Given the description of an element on the screen output the (x, y) to click on. 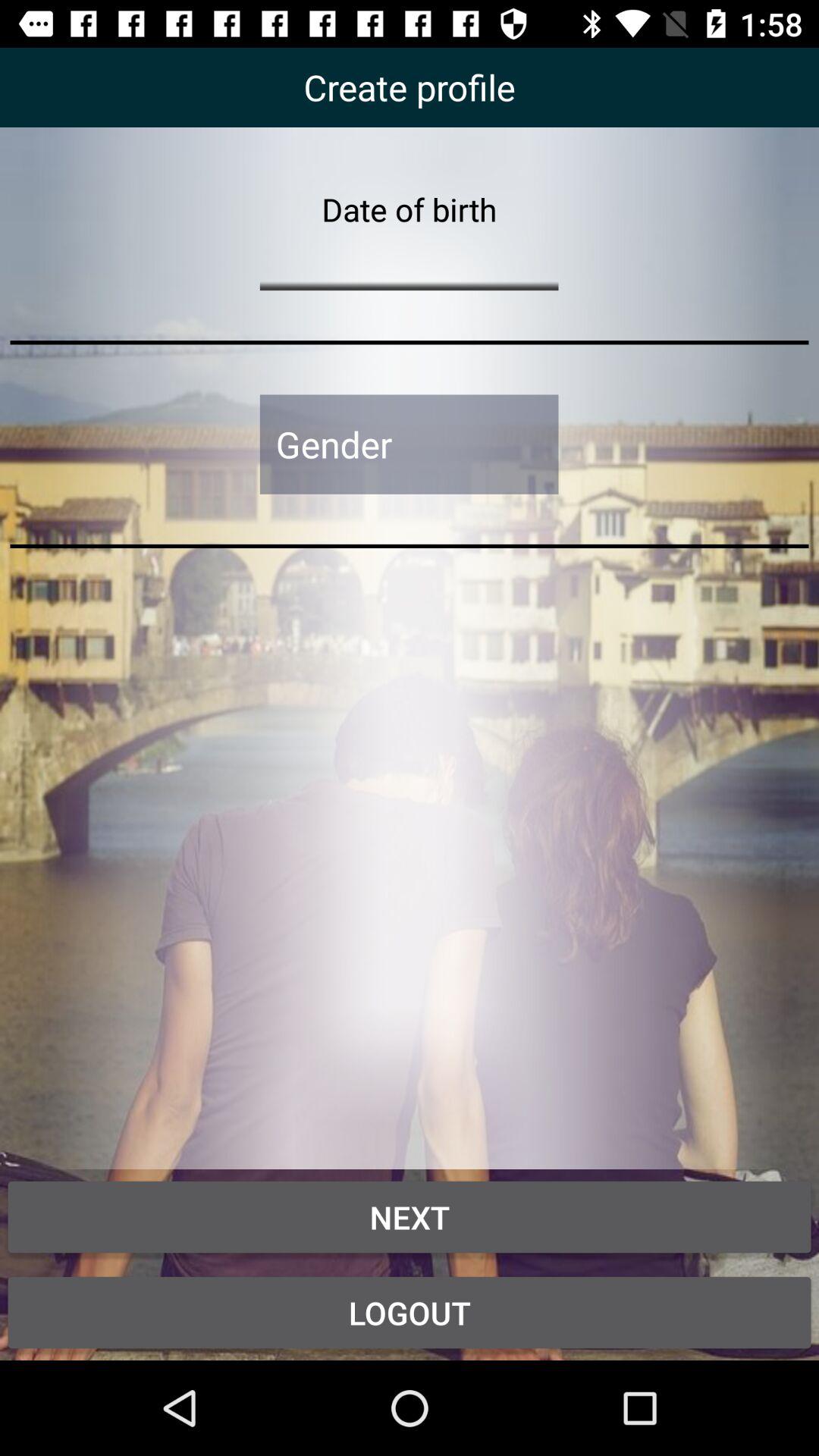
place to enter the date of birth (408, 260)
